Given the description of an element on the screen output the (x, y) to click on. 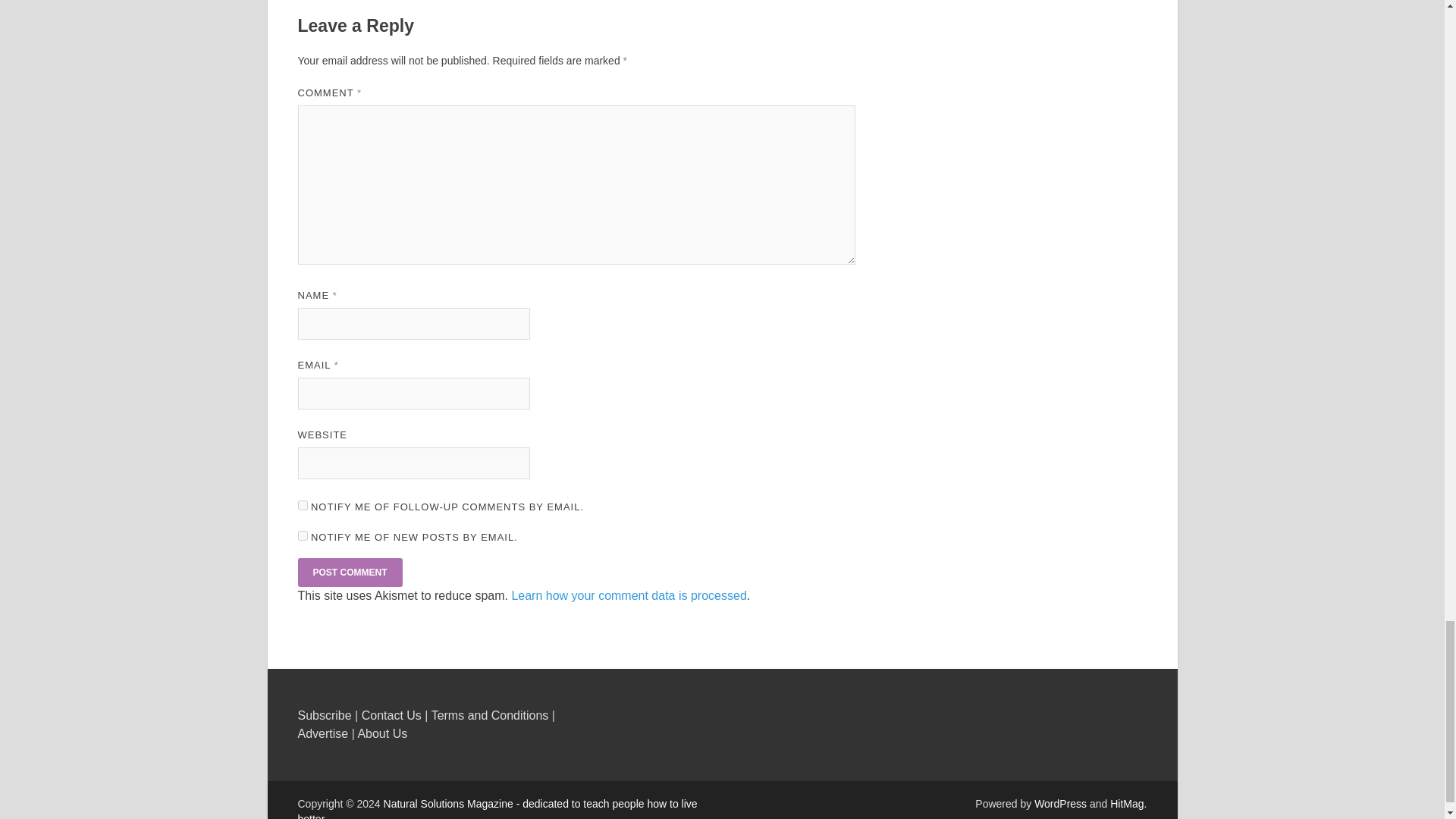
Post Comment (349, 572)
HitMag WordPress Theme (1125, 803)
subscribe (302, 505)
WordPress (1059, 803)
subscribe (302, 535)
